Given the description of an element on the screen output the (x, y) to click on. 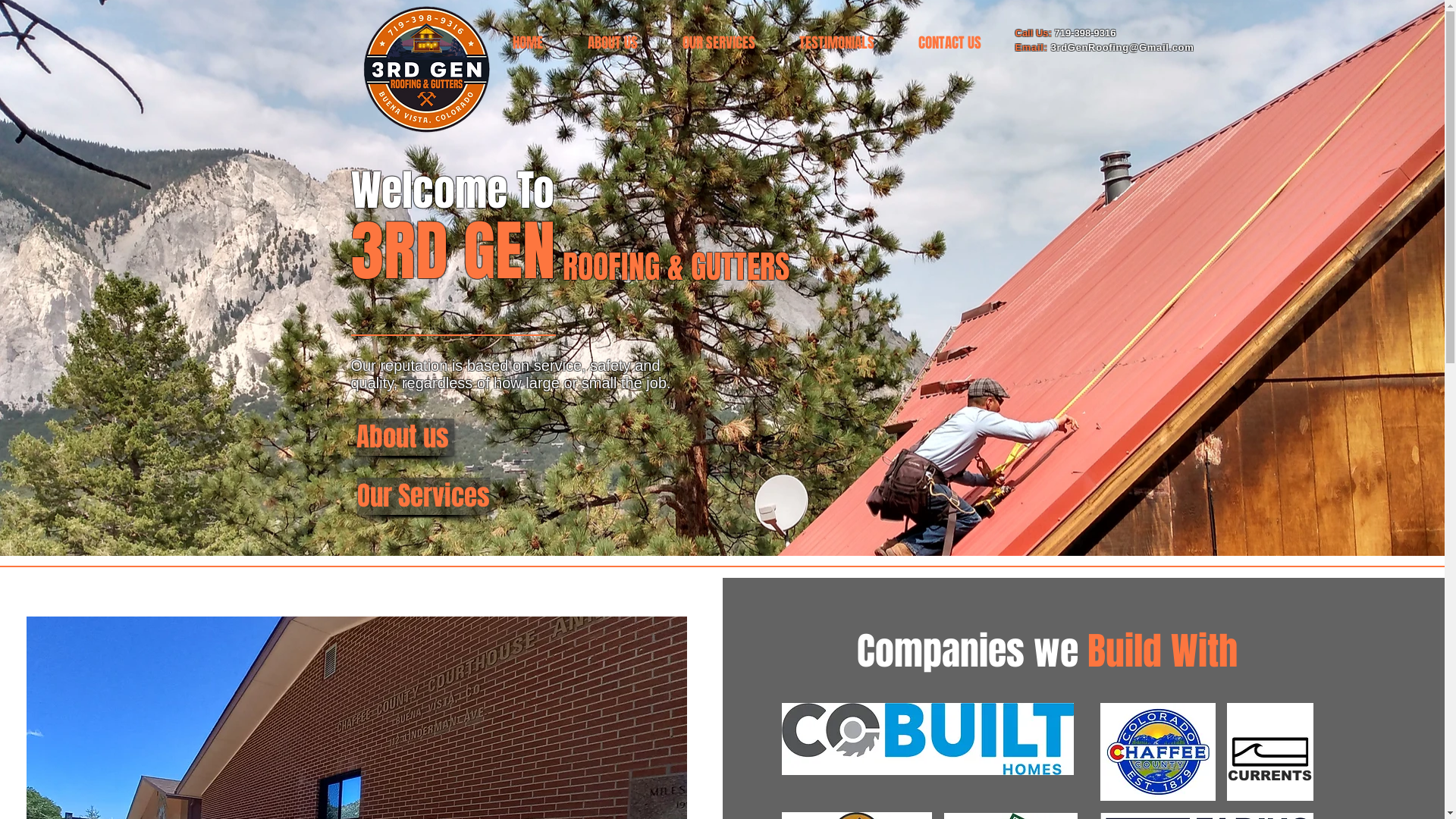
Our Services Element type: text (422, 495)
CONTACT US Element type: text (949, 42)
downloadcob.png Element type: hover (927, 738)
TESTIMONIALS Element type: text (835, 42)
3rdGenRoofing@Gmail.com Element type: text (1122, 47)
social+share-185w.png Element type: hover (1269, 751)
ABOUT US Element type: text (612, 42)
HOME Element type: text (526, 42)
About us Element type: text (405, 436)
OUR SERVICES Element type: text (717, 42)
